Given the description of an element on the screen output the (x, y) to click on. 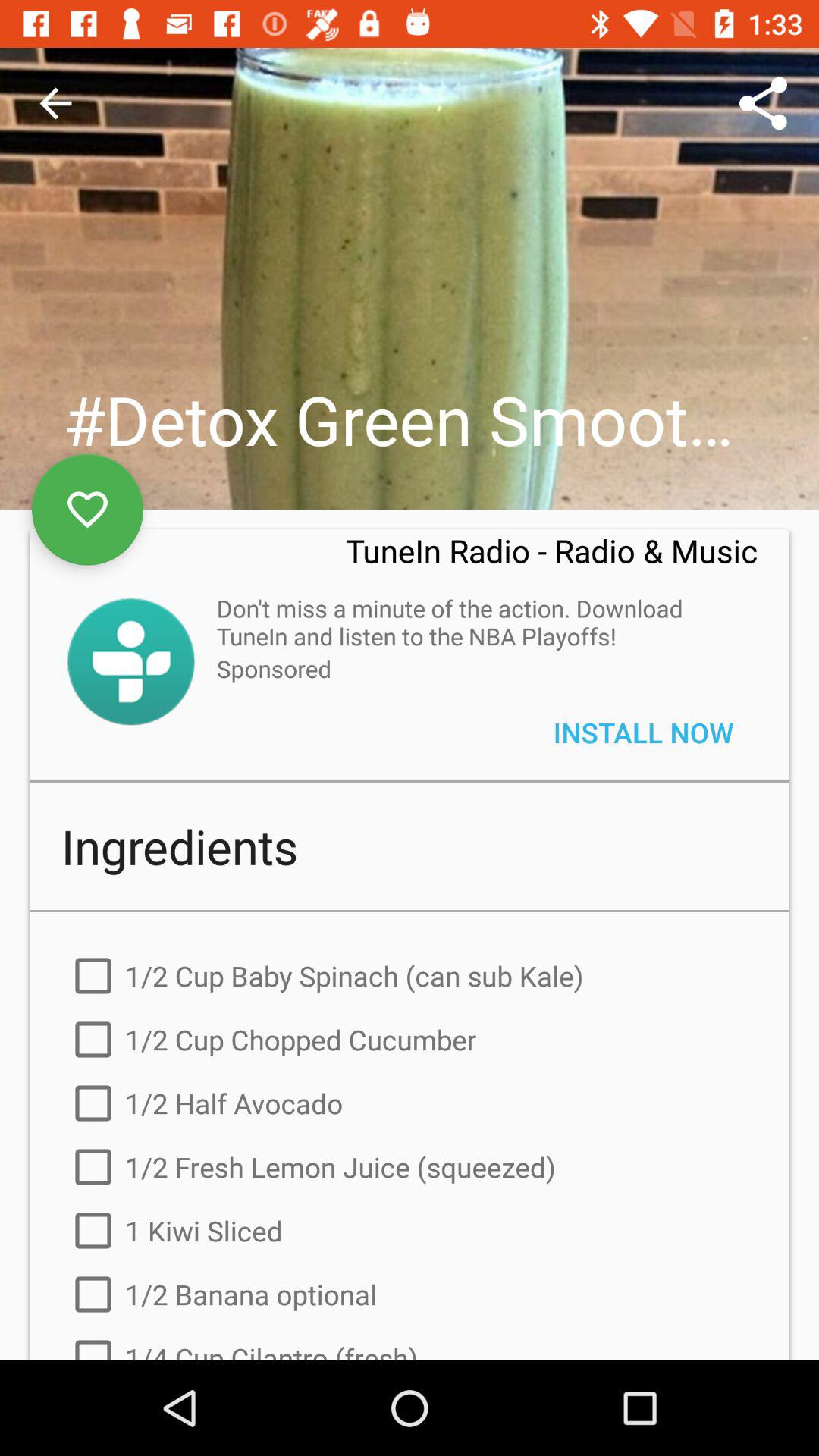
tap item next to tunein radio radio icon (87, 509)
